Given the description of an element on the screen output the (x, y) to click on. 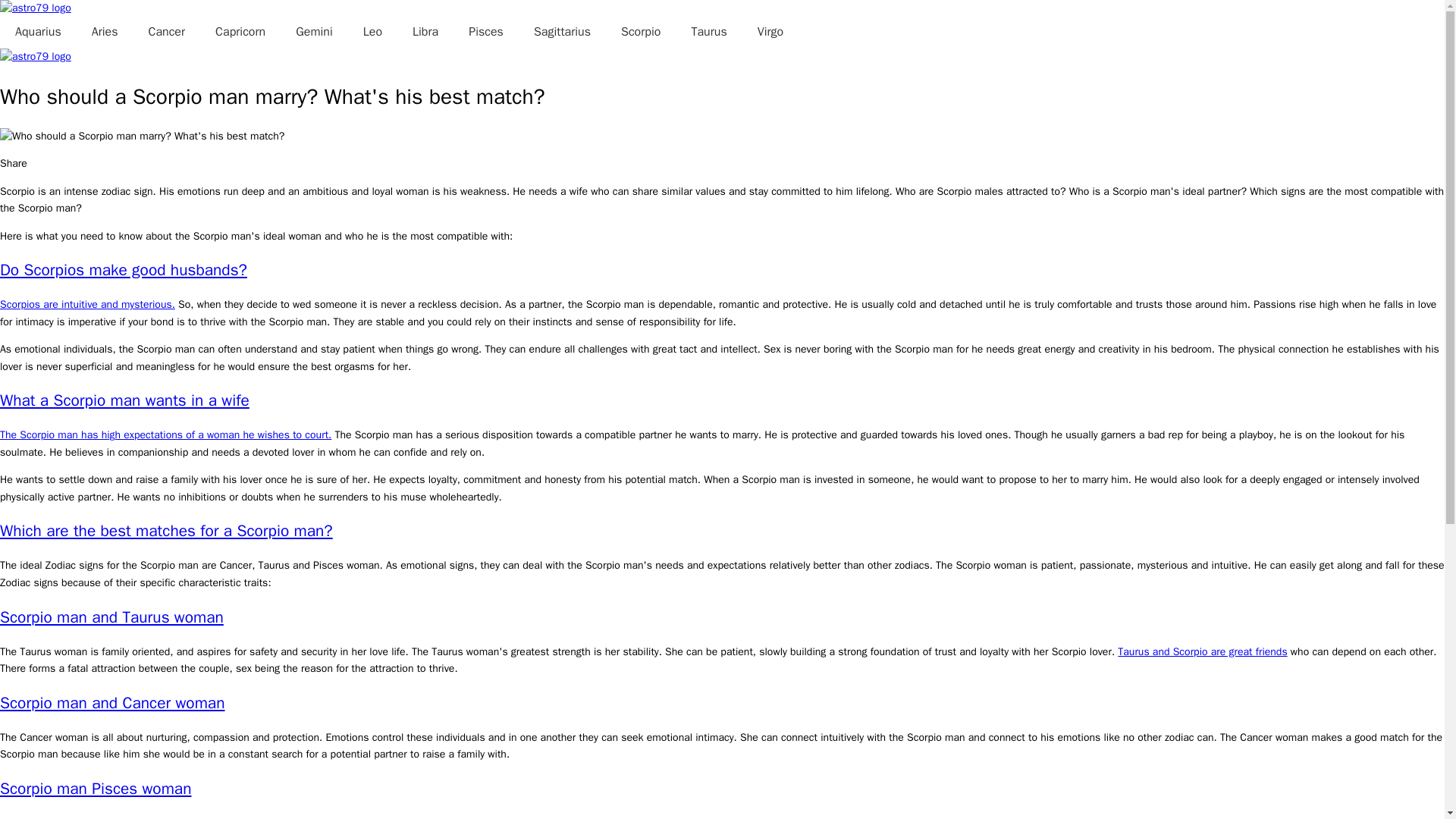
Virgo (770, 31)
Aries (104, 31)
Scorpio (641, 31)
Scorpio man and Taurus woman (112, 617)
Taurus (708, 31)
Gemini (314, 31)
Which are the best matches for a Scorpio man? (166, 530)
Capricorn (239, 31)
Scorpio man Pisces woman (96, 788)
Pisces (485, 31)
Do Scorpios make good husbands? (123, 270)
Scorpio man and Cancer woman (112, 702)
Libra (425, 31)
Sagittarius (562, 31)
Aquarius (37, 31)
